Given the description of an element on the screen output the (x, y) to click on. 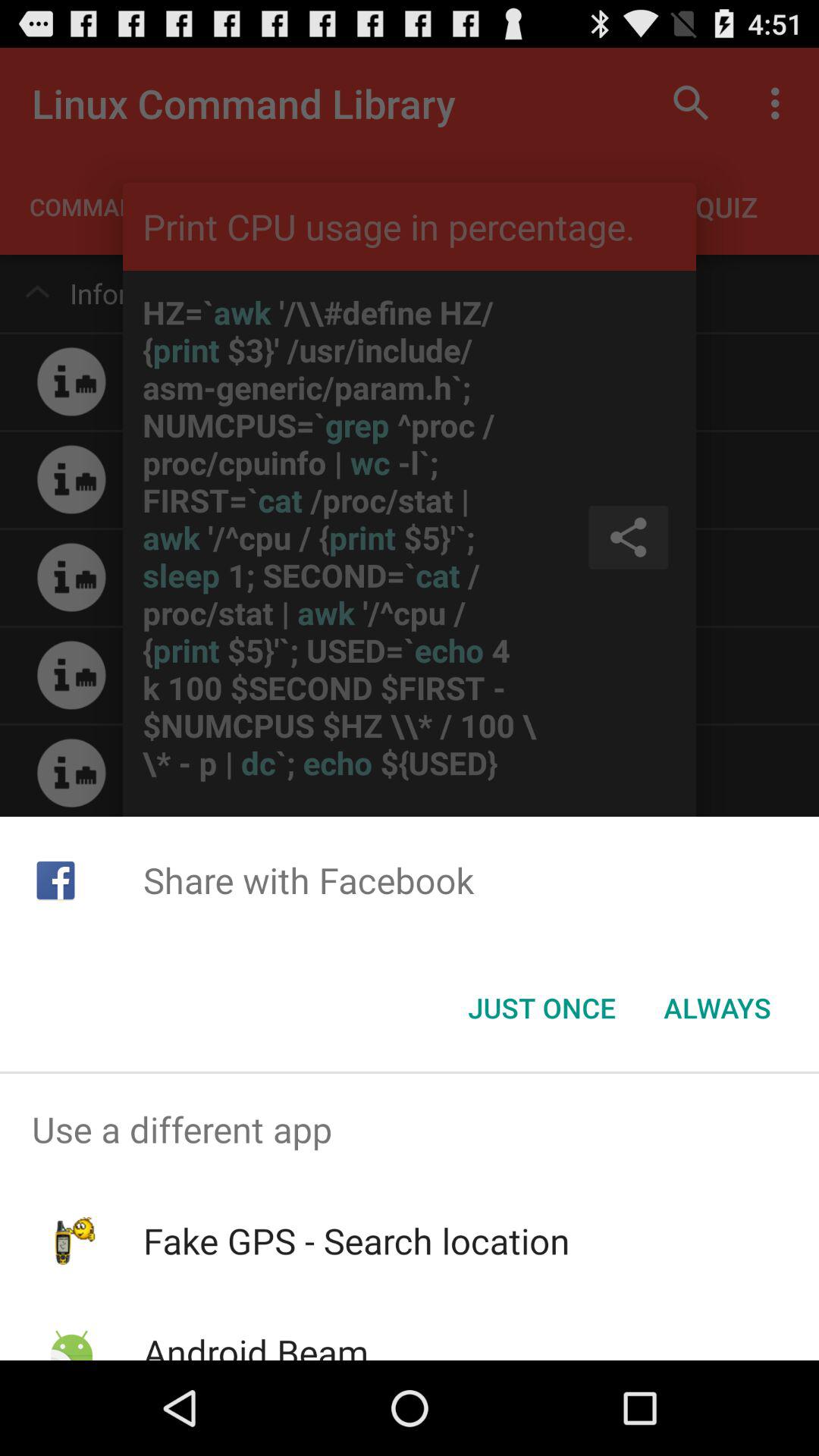
click the android beam app (255, 1344)
